Given the description of an element on the screen output the (x, y) to click on. 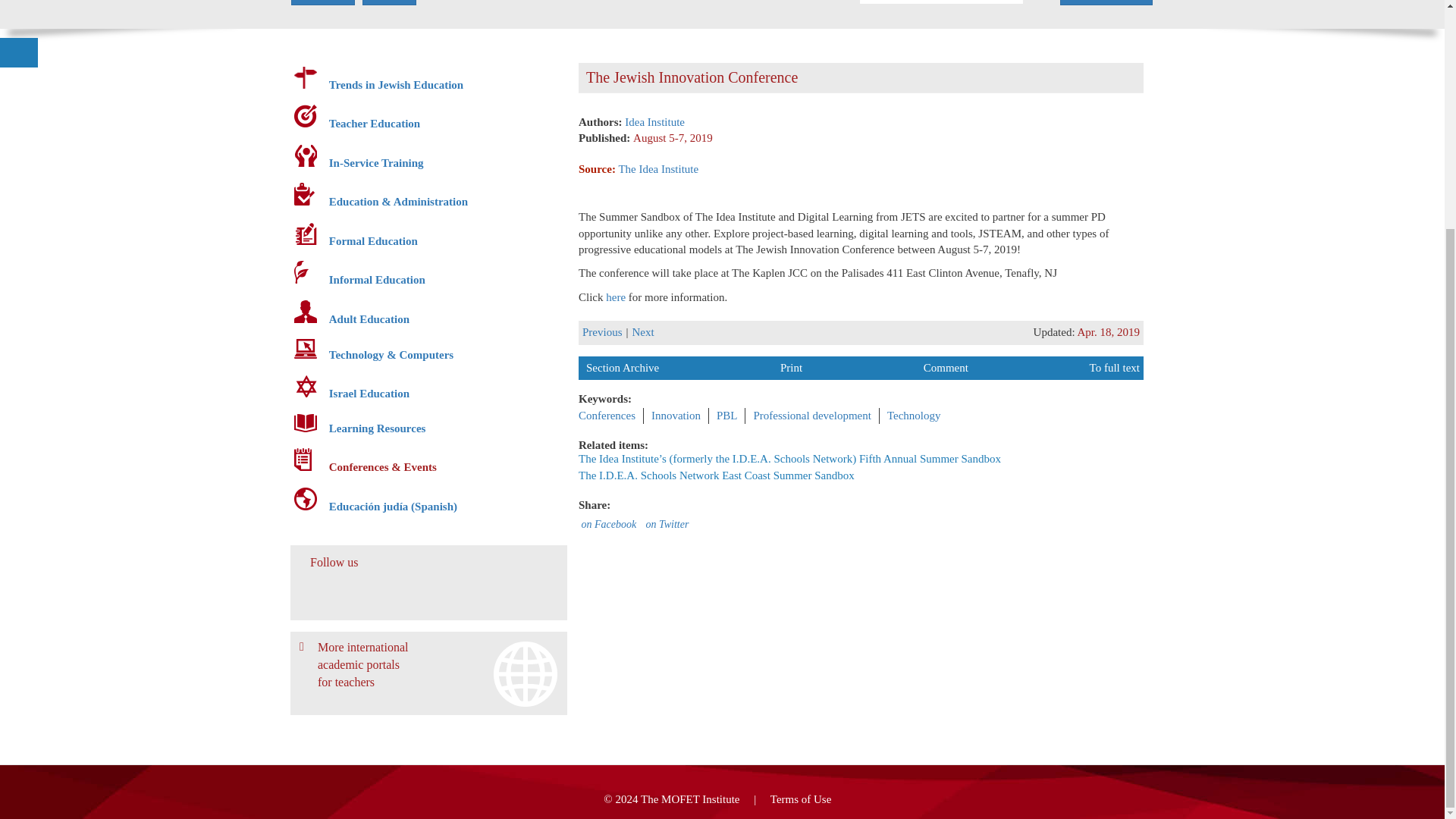
Authors (389, 2)
To full text (1114, 367)
Advanced search (1106, 2)
here (616, 297)
The Idea Institute  (659, 168)
Comment (945, 367)
Print (791, 367)
The Idea Institute (659, 168)
Section Archive (622, 367)
Previous (602, 331)
Next (642, 331)
Innovation (675, 415)
Keywords (323, 2)
Enter the terms you wish to search for. (941, 2)
The Jewish Innovation Conference (616, 297)
